Given the description of an element on the screen output the (x, y) to click on. 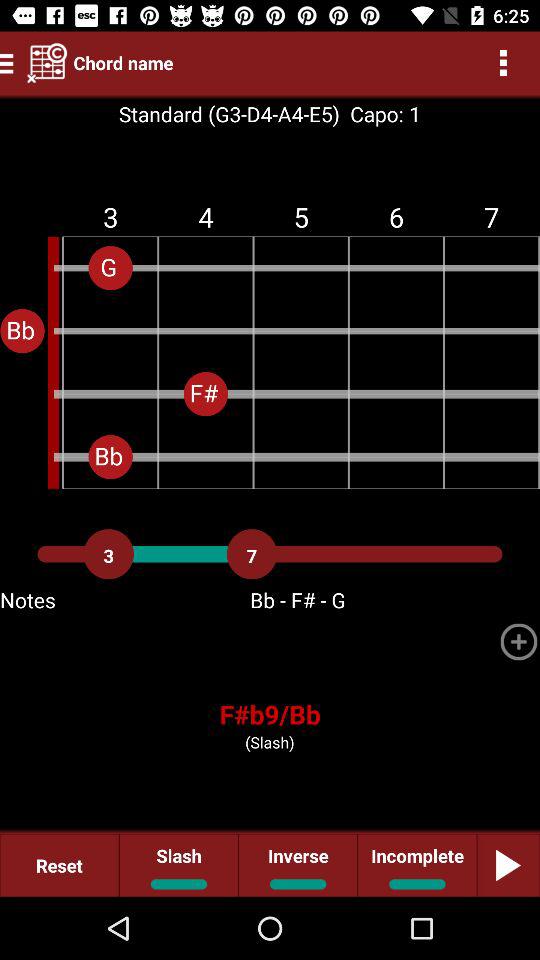
launch icon to the right of the standard g3 d4 item (379, 113)
